Given the description of an element on the screen output the (x, y) to click on. 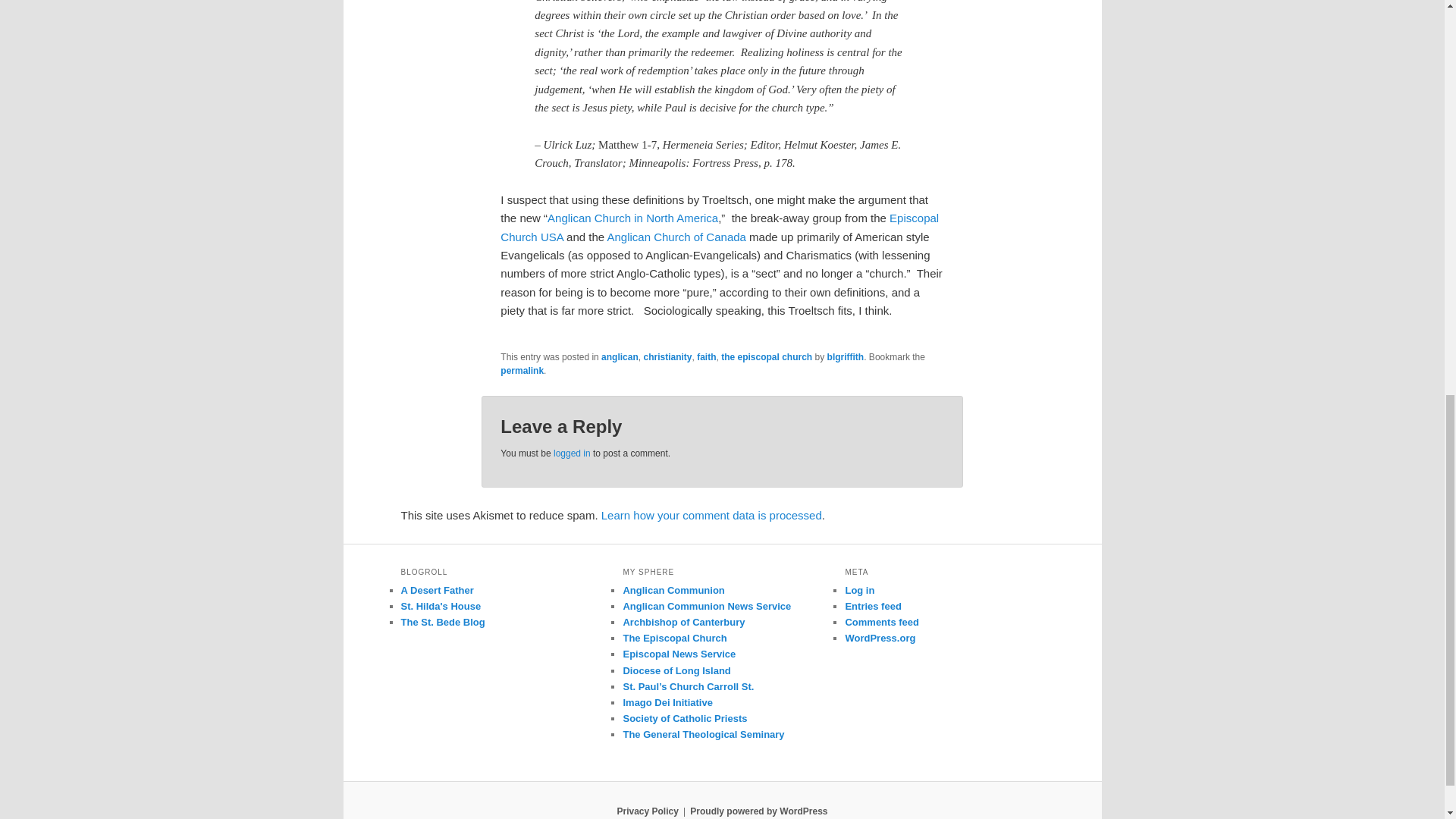
permalink (521, 370)
Learn how your comment data is processed (711, 514)
Anglican Communion (673, 590)
Anglican Church of Canada (676, 236)
The St. Bede Blog (442, 622)
logged in (572, 452)
Entries feed (872, 605)
faith (706, 357)
A Desert Father (436, 590)
Comments feed (881, 622)
The General Theological Seminary (703, 734)
Archbishop of Canterbury (683, 622)
Diocese of Long Island (676, 670)
Anglican Church of Canada (676, 236)
Imago Dei Initiative (667, 702)
